Given the description of an element on the screen output the (x, y) to click on. 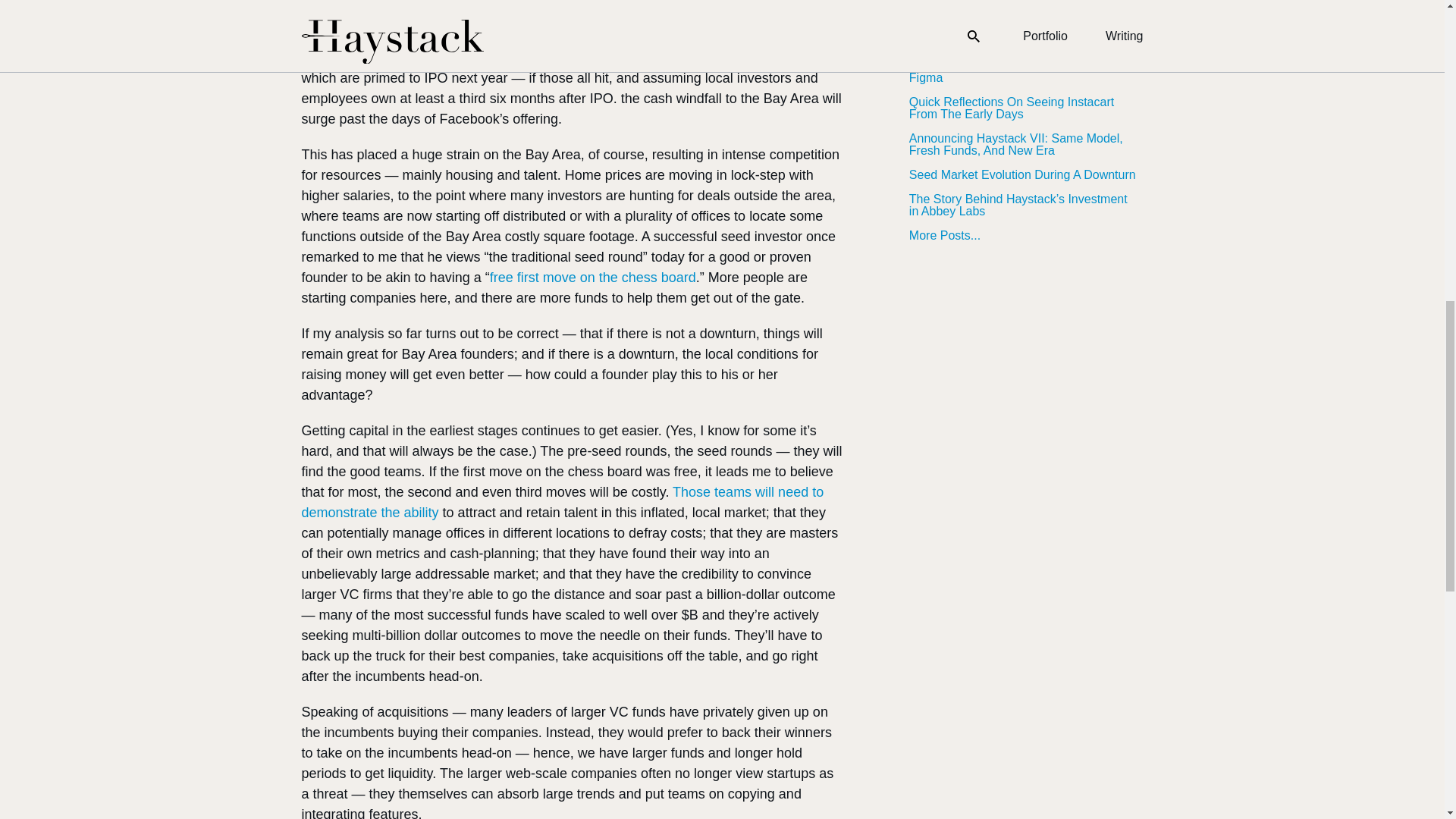
free first move on the chess board (592, 277)
The Breakout Tech Company Of 2023 (1022, 41)
More Posts... (1022, 235)
Quick Reflections On Seeing Instacart From The Early Days (1022, 108)
Seed Market Evolution During A Downturn (1022, 174)
Those teams will need to demonstrate the ability (562, 502)
